Given the description of an element on the screen output the (x, y) to click on. 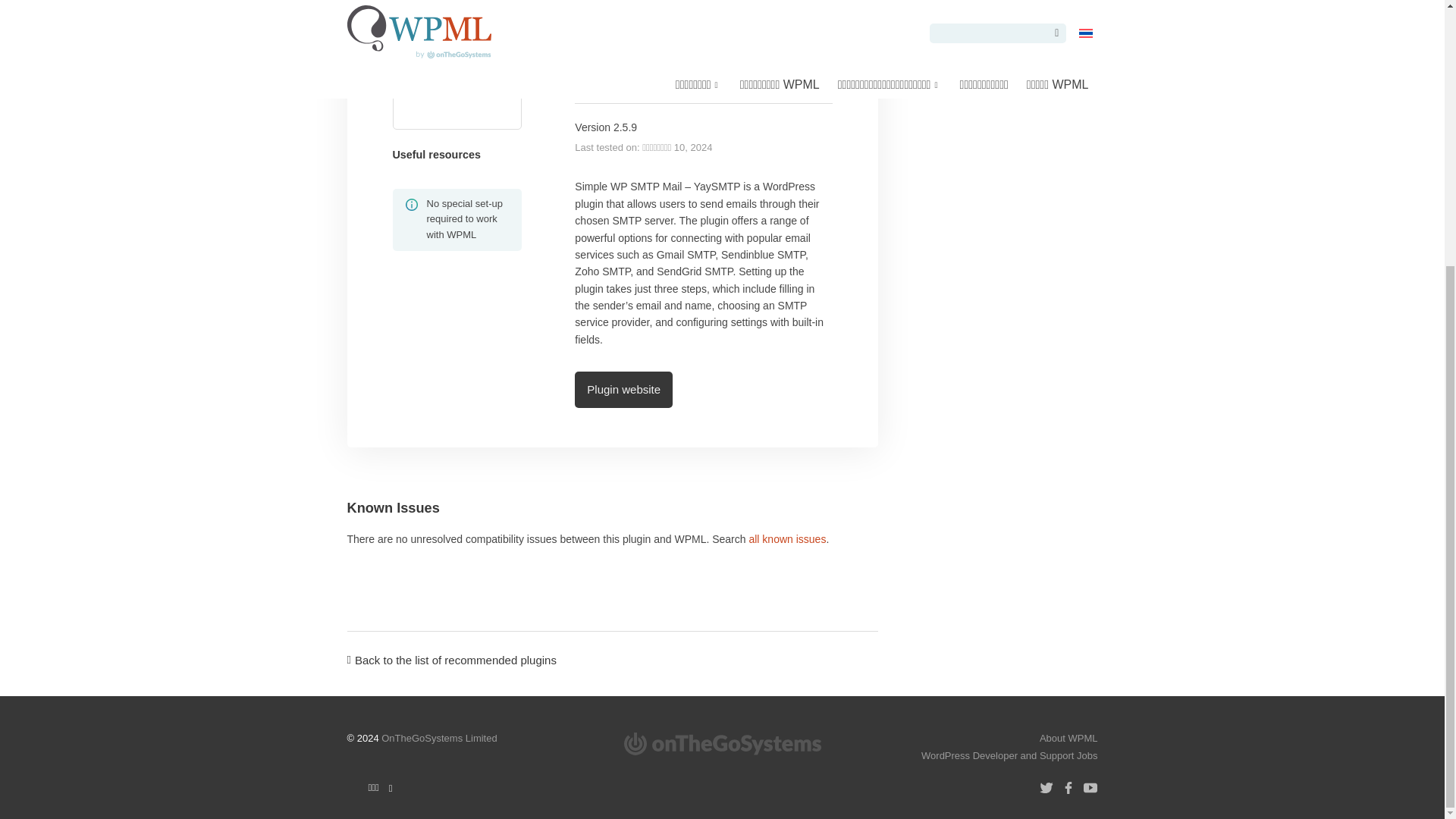
YayCommerce (799, 75)
